Given the description of an element on the screen output the (x, y) to click on. 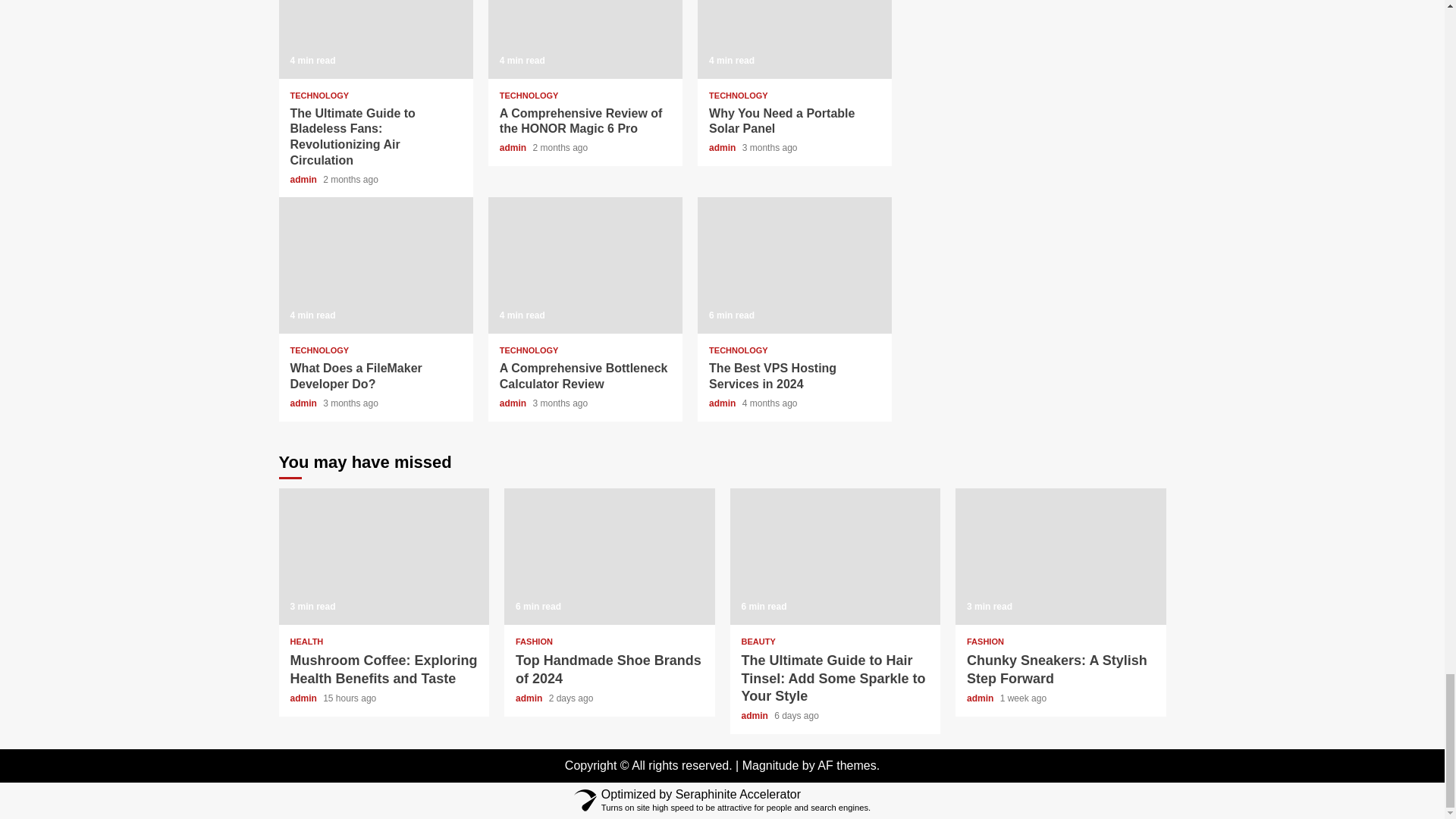
TECHNOLOGY (319, 95)
